Given the description of an element on the screen output the (x, y) to click on. 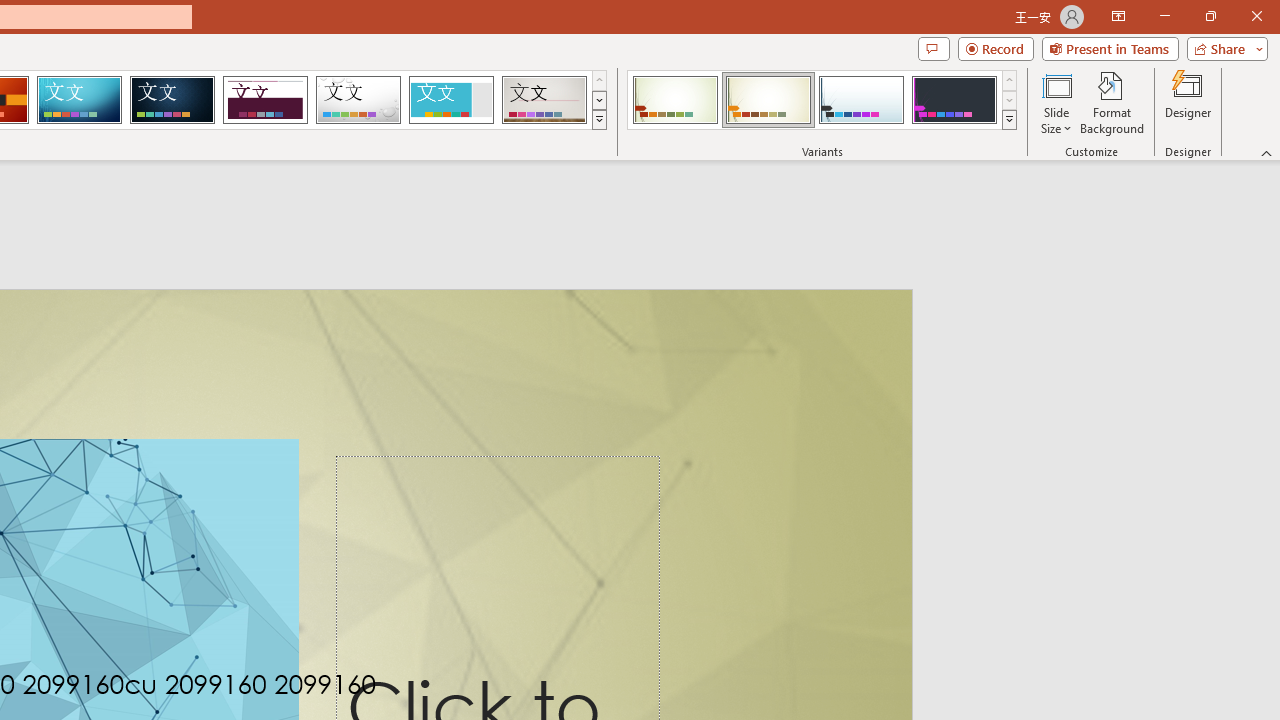
Wisp Variant 2 (768, 100)
Damask Loading Preview... (171, 100)
Format Background (1111, 102)
Droplet Loading Preview... (358, 100)
Variants (1009, 120)
Frame Loading Preview... (450, 100)
Wisp Variant 4 (953, 100)
AutomationID: ThemeVariantsGallery (822, 99)
